Given the description of an element on the screen output the (x, y) to click on. 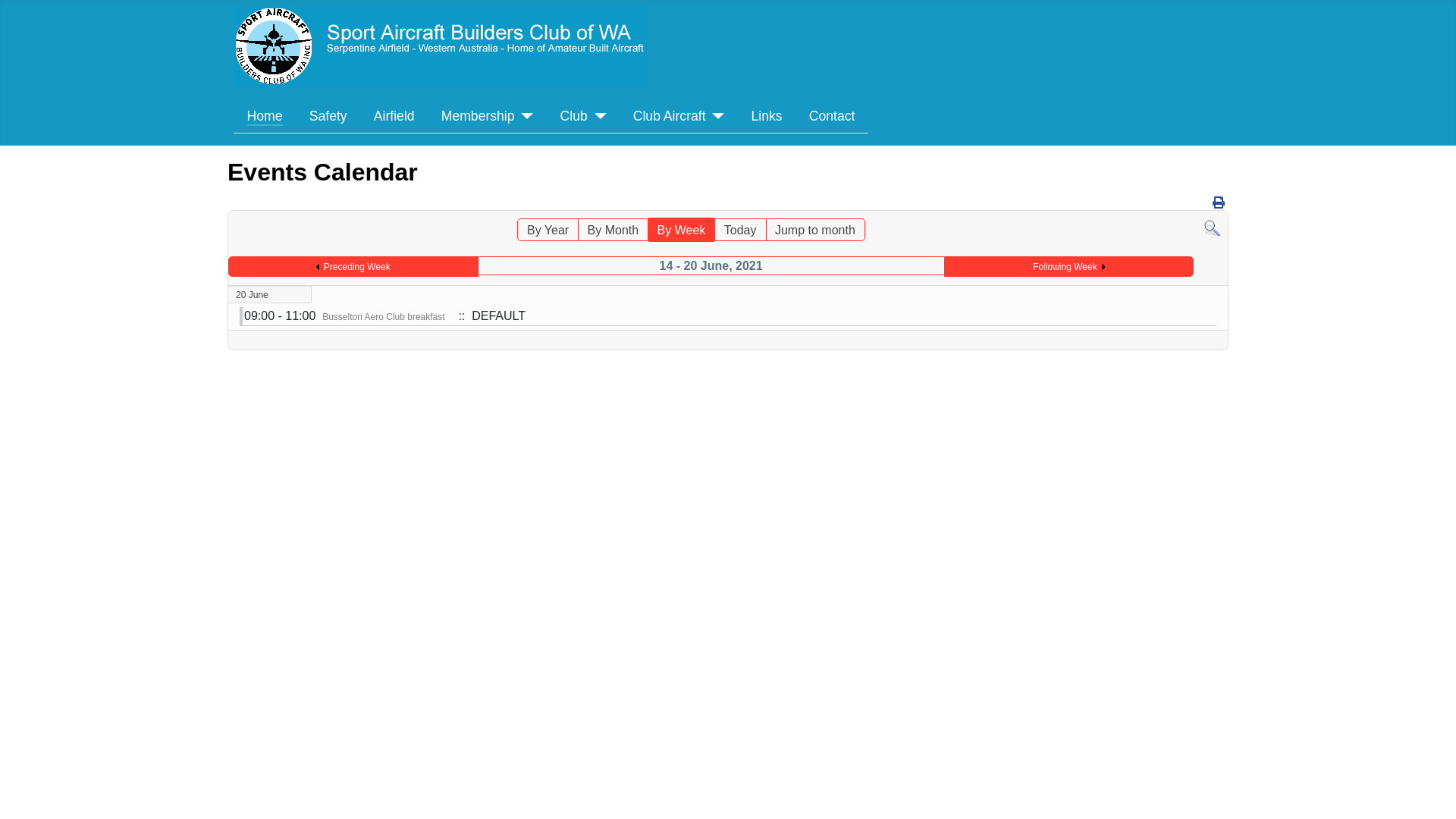
Club Element type: text (583, 115)
Contact Element type: text (832, 115)
Links Element type: text (766, 115)
By Week Element type: text (681, 229)
By Year Element type: text (547, 229)
Airfield Element type: text (393, 115)
Following Week Element type: text (1068, 266)
Club Aircraft Element type: text (678, 115)
Jump to month Element type: text (814, 229)
Home Element type: text (264, 115)
Membership Element type: text (487, 115)
Busselton Aero Club breakfast Element type: text (383, 316)
Search Element type: hover (1212, 226)
Print Element type: hover (1218, 202)
Preceding Week Element type: text (353, 266)
By Month Element type: text (613, 229)
Today Element type: text (740, 229)
Safety Element type: text (328, 115)
